Given the description of an element on the screen output the (x, y) to click on. 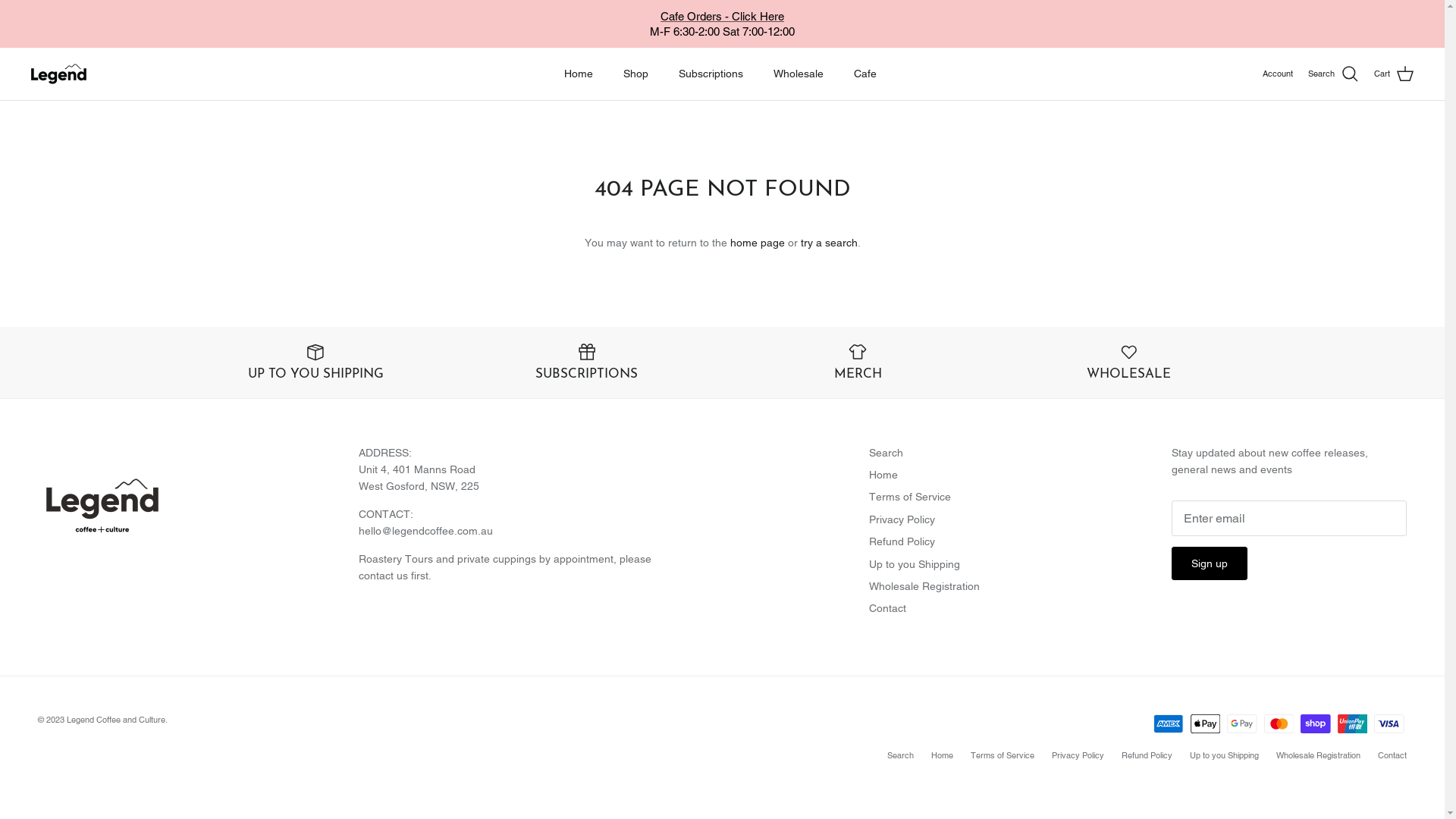
Cafe Orders - Click Here Element type: text (722, 15)
Home Element type: text (883, 474)
Contact Element type: text (887, 608)
SUBSCRIPTIONS Element type: text (586, 362)
Terms of Service Element type: text (1002, 754)
home page Element type: text (756, 242)
Cafe Element type: text (865, 73)
Wholesale Registration Element type: text (1318, 754)
Terms of Service Element type: text (909, 496)
Up to you Shipping Element type: text (914, 564)
Contact Element type: text (1391, 754)
Sign up Element type: text (1209, 563)
Search Element type: text (1333, 73)
Privacy Policy Element type: text (902, 519)
Wholesale Element type: text (798, 73)
Home Element type: text (578, 73)
Search Element type: text (900, 754)
try a search Element type: text (828, 242)
UP TO YOU SHIPPING Element type: text (315, 362)
Account Element type: text (1277, 74)
Shop Element type: text (635, 73)
Search Element type: text (886, 452)
Subscriptions Element type: text (710, 73)
WHOLESALE Element type: text (1128, 362)
Cart Element type: text (1394, 73)
Refund Policy Element type: text (1146, 754)
Refund Policy Element type: text (902, 541)
Wholesale Registration Element type: text (924, 586)
Privacy Policy Element type: text (1077, 754)
Legend Coffee and Culture Element type: text (115, 719)
Legend Coffee and Culture Element type: hover (58, 73)
Home Element type: text (942, 754)
Up to you Shipping Element type: text (1223, 754)
MERCH Element type: text (858, 362)
